Given the description of an element on the screen output the (x, y) to click on. 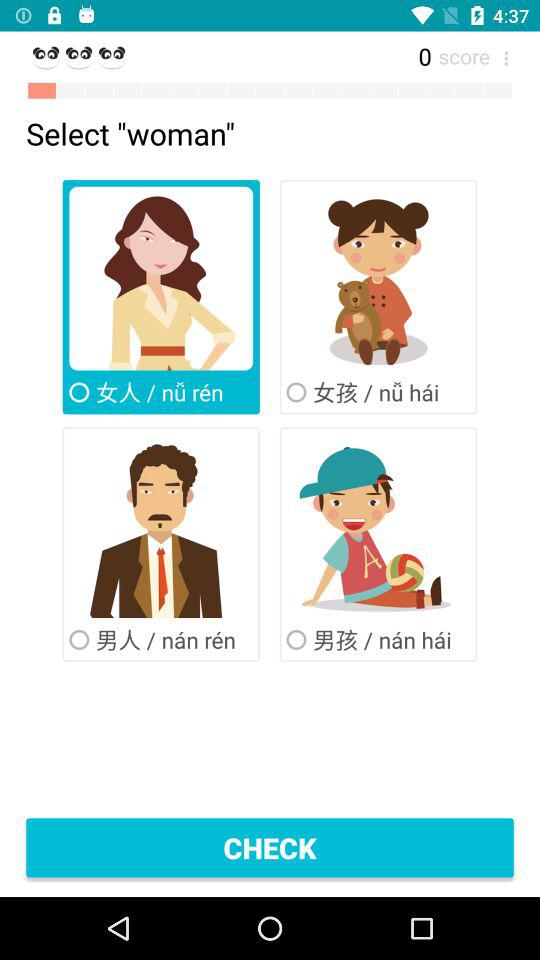
click on the 2nd image of 1st row (377, 278)
